Given the description of an element on the screen output the (x, y) to click on. 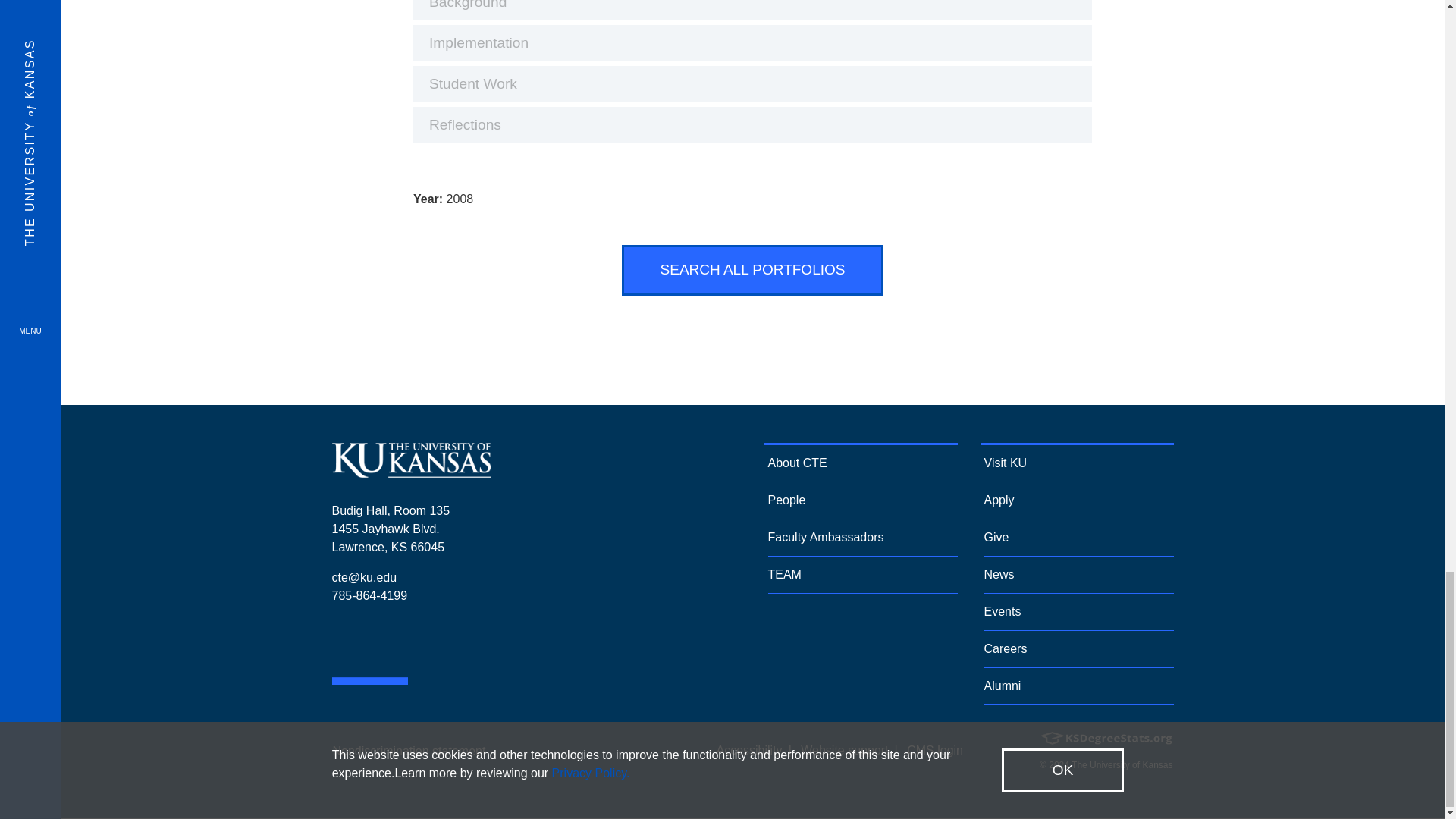
Facebook (337, 641)
Twitter (384, 641)
Linkedin (407, 641)
The University of Kansas (411, 471)
Instagram (360, 641)
